Given the description of an element on the screen output the (x, y) to click on. 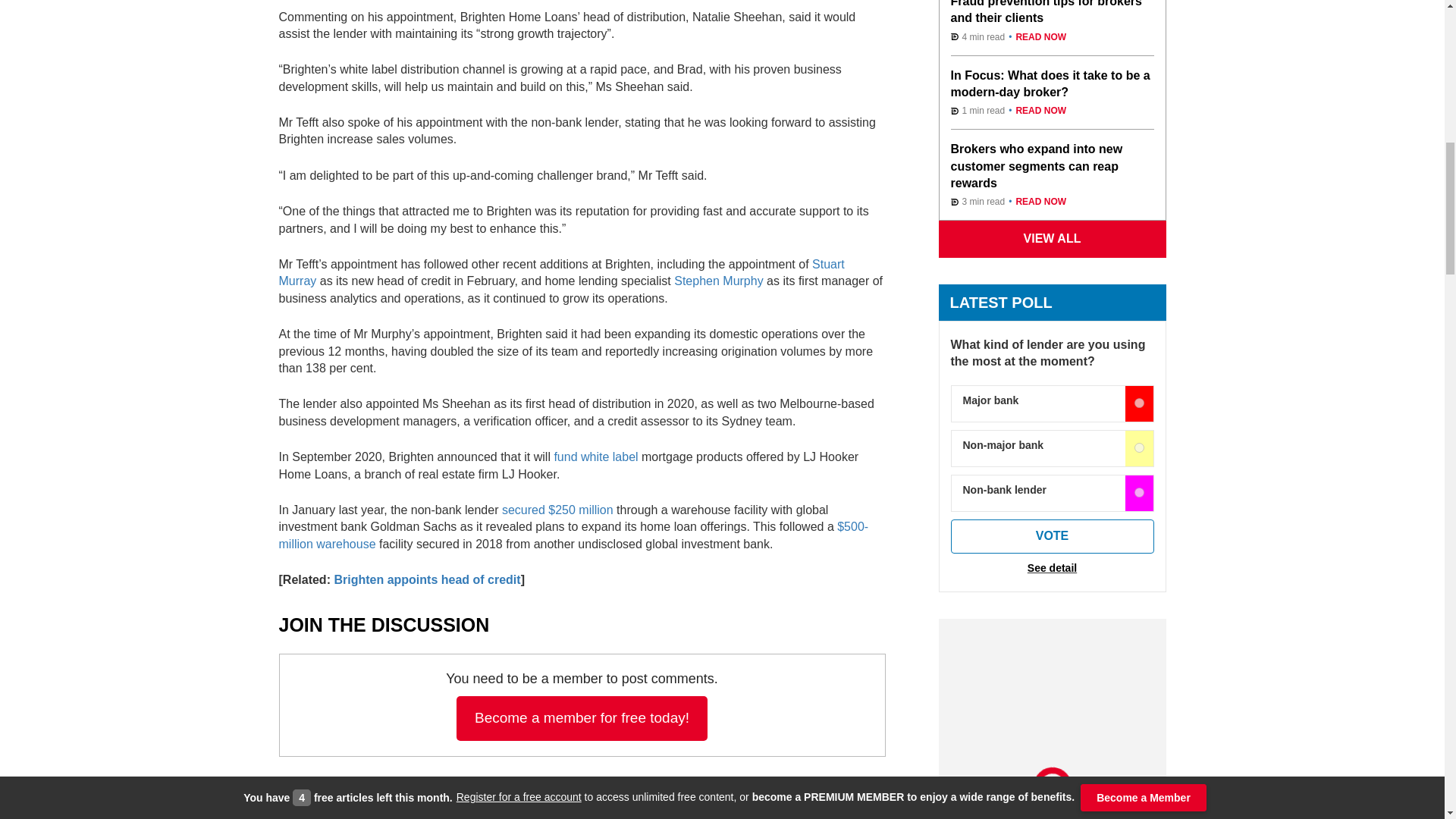
2 (1139, 492)
1 (1139, 447)
0 (1139, 402)
